Given the description of an element on the screen output the (x, y) to click on. 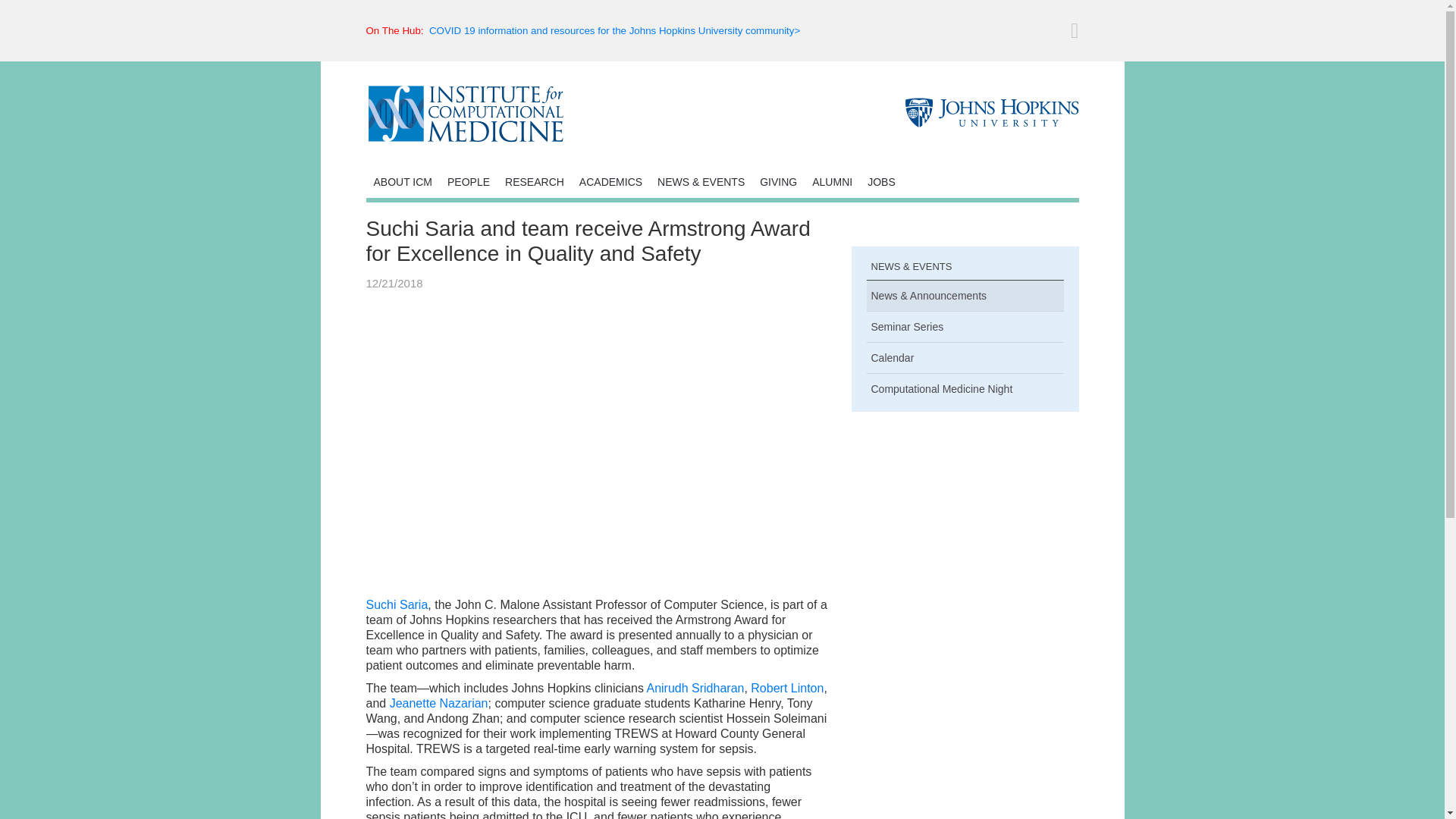
PEOPLE (468, 181)
RESEARCH (534, 181)
ABOUT ICM (402, 181)
ACADEMICS (610, 181)
